Given the description of an element on the screen output the (x, y) to click on. 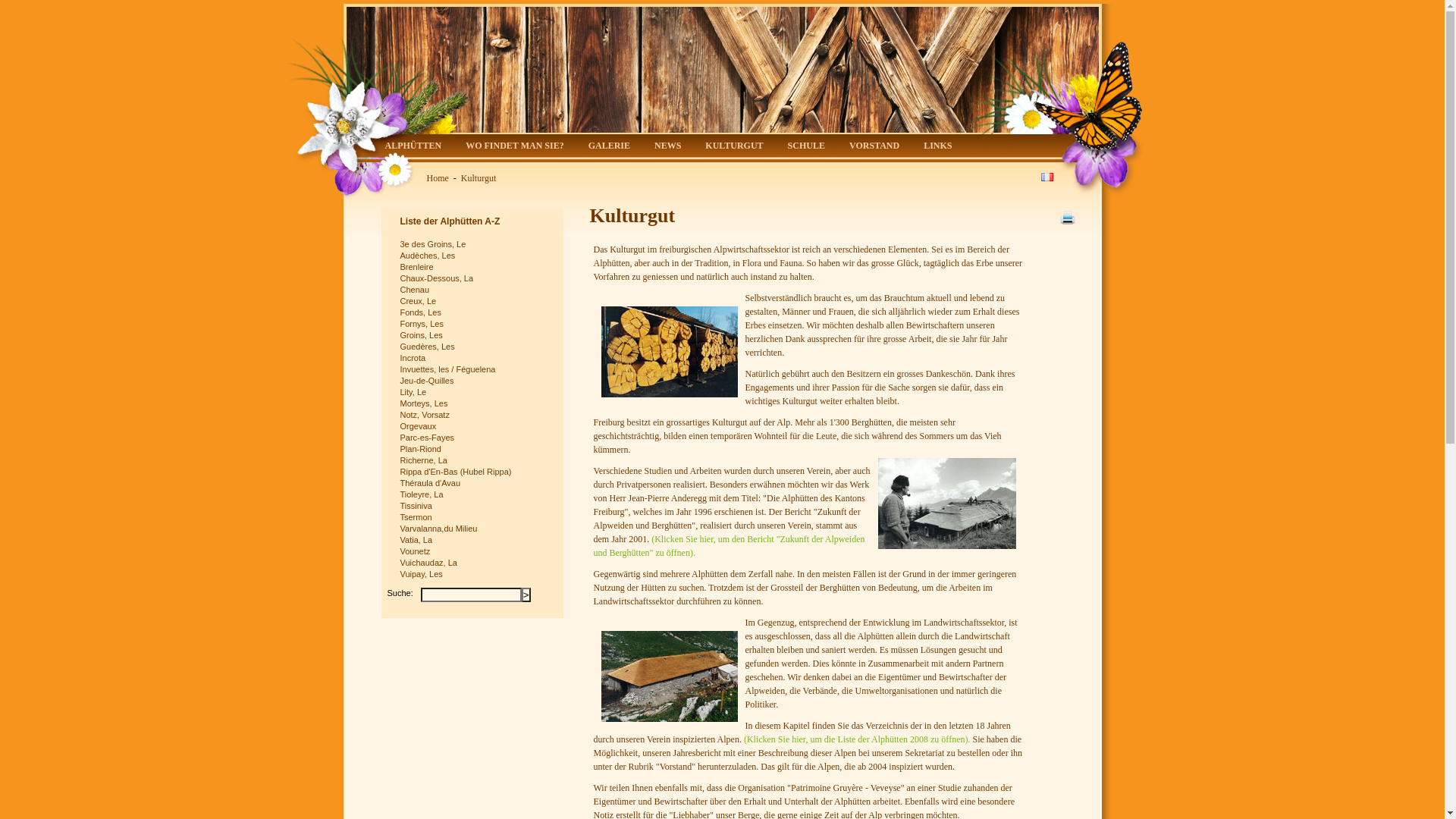
Groins, Les Element type: text (474, 335)
Plan-Riond Element type: text (474, 449)
Richerne, La Element type: text (474, 460)
Tissiniva Element type: text (474, 505)
Orgevaux Element type: text (474, 426)
Jeu-de-Quilles Element type: text (474, 380)
VORSTAND Element type: text (874, 146)
Vounetz Element type: text (474, 551)
LINKS Element type: text (937, 146)
NEWS Element type: text (667, 146)
Tioleyre, La Element type: text (474, 494)
Incrota Element type: text (474, 358)
Lity, Le Element type: text (474, 392)
Rippa d'En-Bas (Hubel Rippa) Element type: text (474, 471)
Tsermon Element type: text (474, 517)
WO FINDET MAN SIE? Element type: text (514, 146)
Chenau Element type: text (474, 289)
Chaux-Dessous, La Element type: text (474, 278)
3e des Groins, Le Element type: text (474, 244)
Vatia, La Element type: text (474, 540)
Notz, Vorsatz Element type: text (474, 414)
Creux, Le Element type: text (474, 301)
Parc-es-Fayes Element type: text (474, 437)
Vuipay, Les Element type: text (474, 574)
Vuichaudaz, La Element type: text (474, 562)
Morteys, Les Element type: text (474, 403)
Fornys, Les Element type: text (474, 323)
KULTURGUT Element type: text (734, 146)
Fonds, Les Element type: text (474, 312)
Kulturgut Element type: text (478, 177)
Brenleire Element type: text (474, 267)
GALERIE Element type: text (609, 146)
Home Element type: text (437, 177)
SCHULE Element type: text (806, 146)
Varvalanna,du Milieu Element type: text (474, 528)
> Element type: text (525, 594)
